Given the description of an element on the screen output the (x, y) to click on. 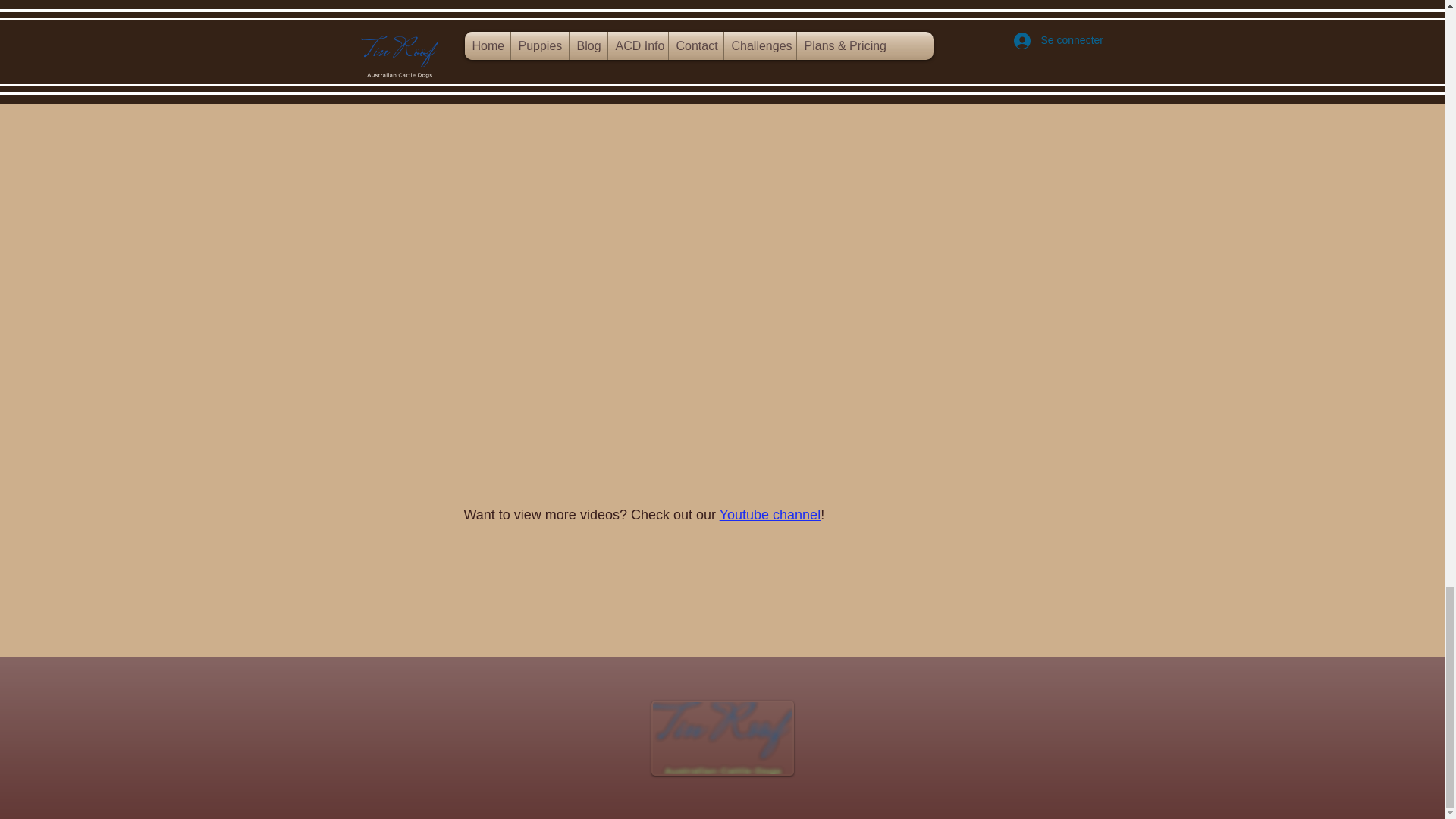
Youtube channel (770, 514)
